Given the description of an element on the screen output the (x, y) to click on. 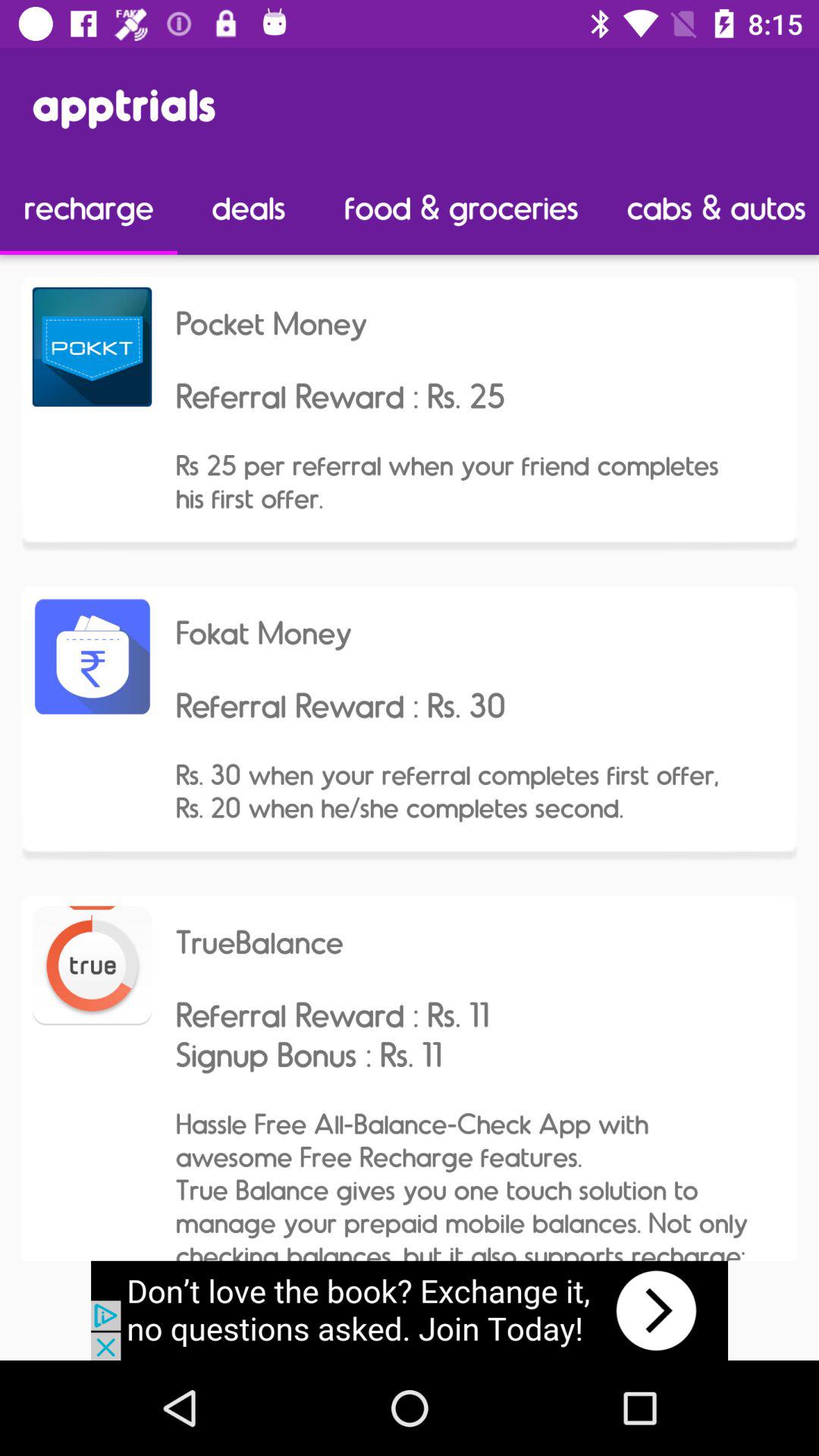
banner advertisement (409, 1310)
